Given the description of an element on the screen output the (x, y) to click on. 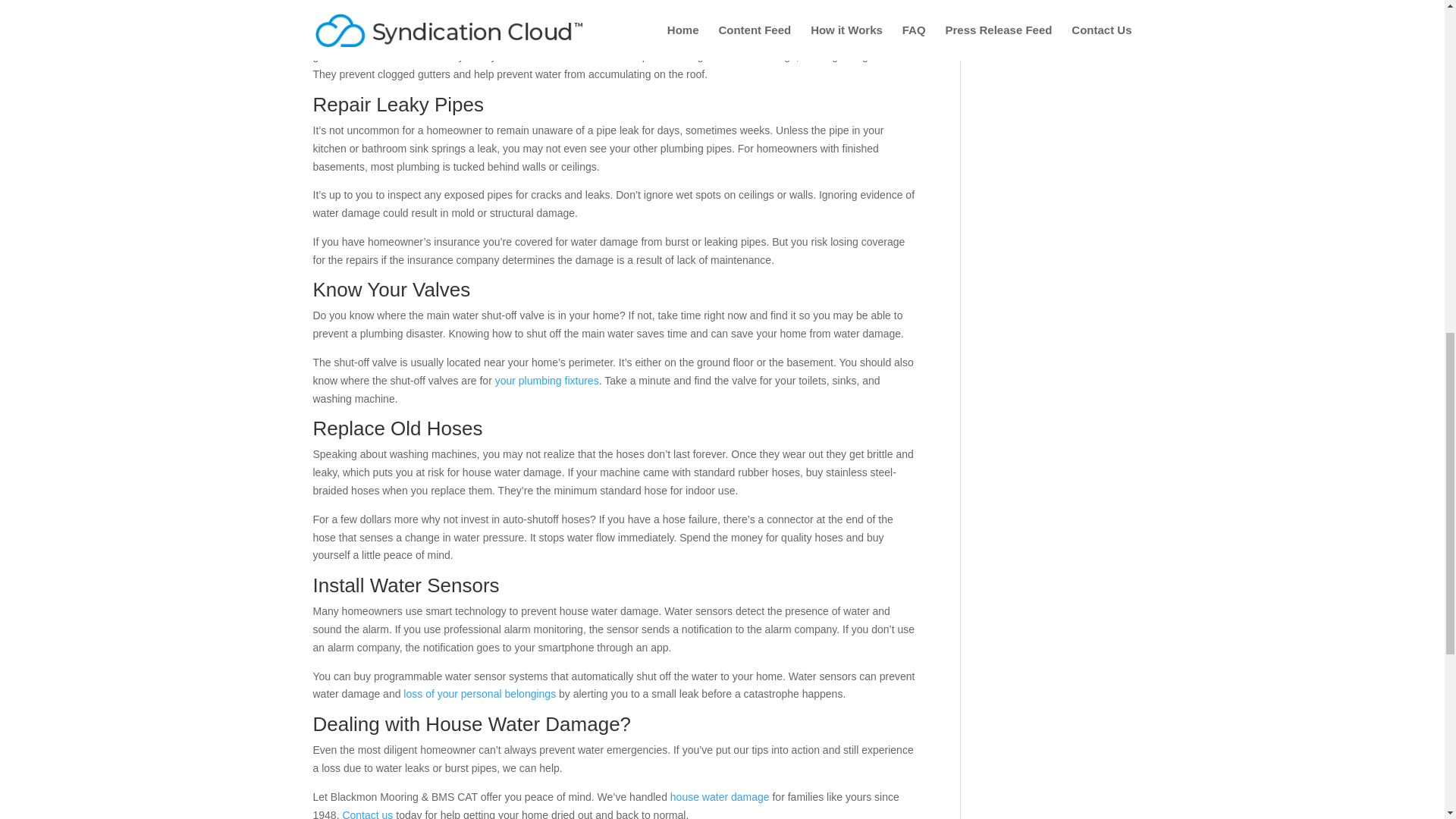
Contact us (367, 814)
your plumbing fixtures (546, 380)
house water damage (719, 797)
loss of your personal belongings (479, 693)
